Given the description of an element on the screen output the (x, y) to click on. 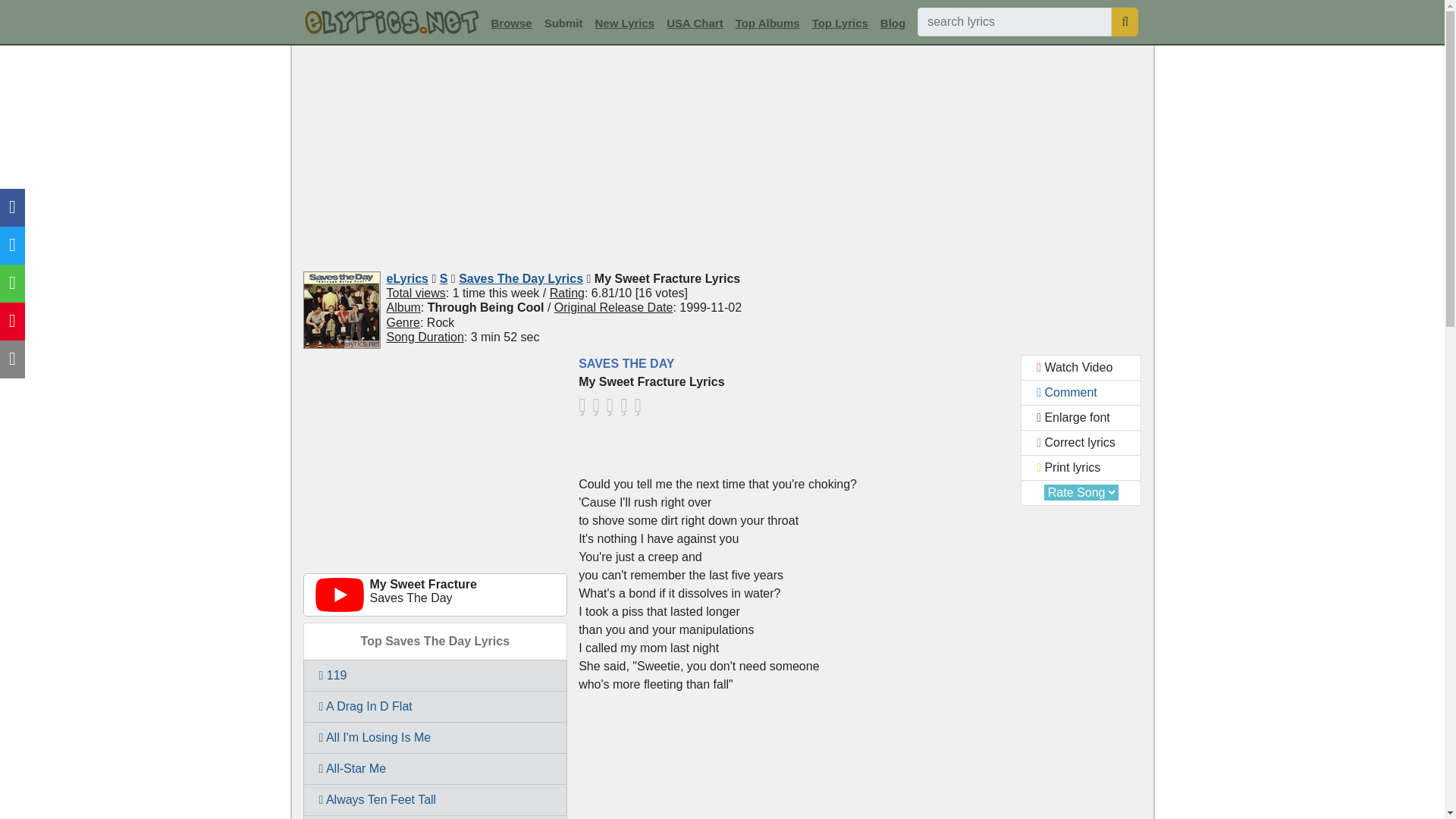
119 (434, 675)
Saves The Day Lyrics (520, 278)
Song Lyrics (391, 22)
Top Saves The Day Lyrics (434, 641)
All-Star Me (434, 768)
A Drag In D Flat (434, 706)
eLyrics (407, 278)
USA Chart (695, 23)
Blog (893, 23)
Top Albums (767, 23)
All I'm Losing Is Me (434, 737)
Browse (511, 23)
An Afternoon Laughing (434, 816)
Always Ten Feet Tall (434, 799)
Top Lyrics (840, 23)
